Given the description of an element on the screen output the (x, y) to click on. 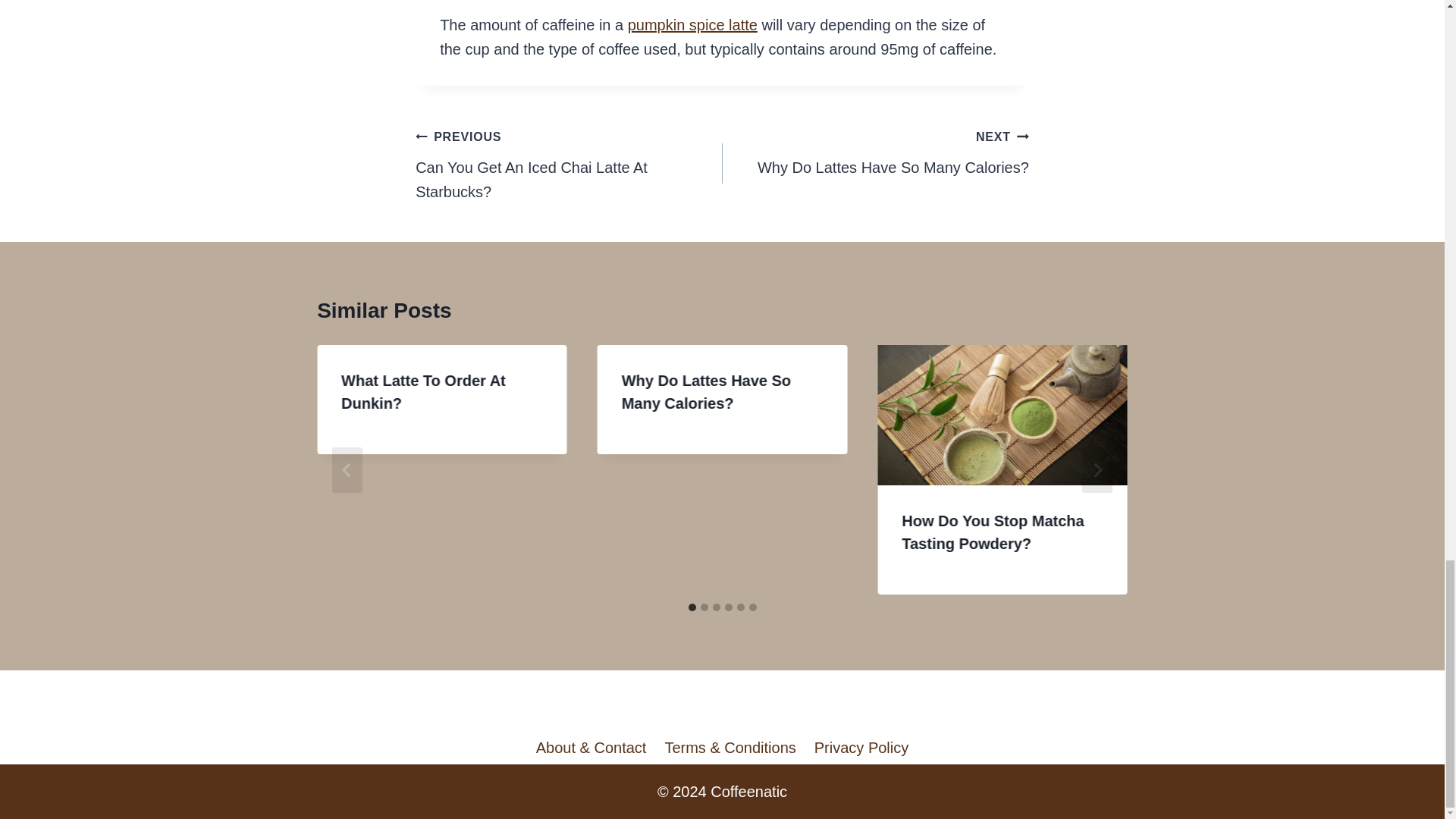
pumpkin spice latte (692, 24)
